Given the description of an element on the screen output the (x, y) to click on. 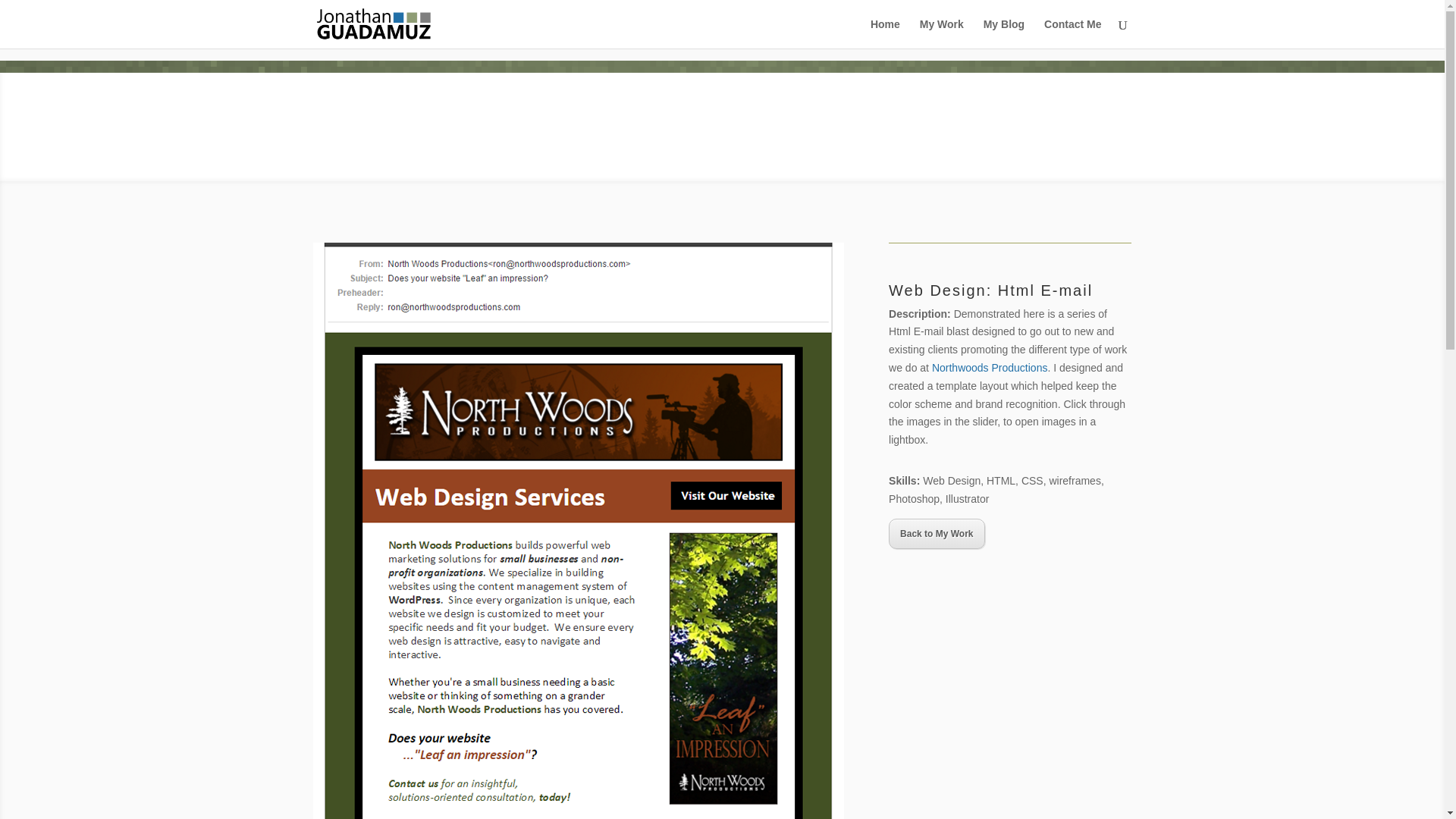
Contact Me (1071, 33)
My Work (941, 33)
My Blog (1004, 33)
Northwoods Productions (989, 367)
Home (884, 33)
Back to My Work (936, 533)
